Given the description of an element on the screen output the (x, y) to click on. 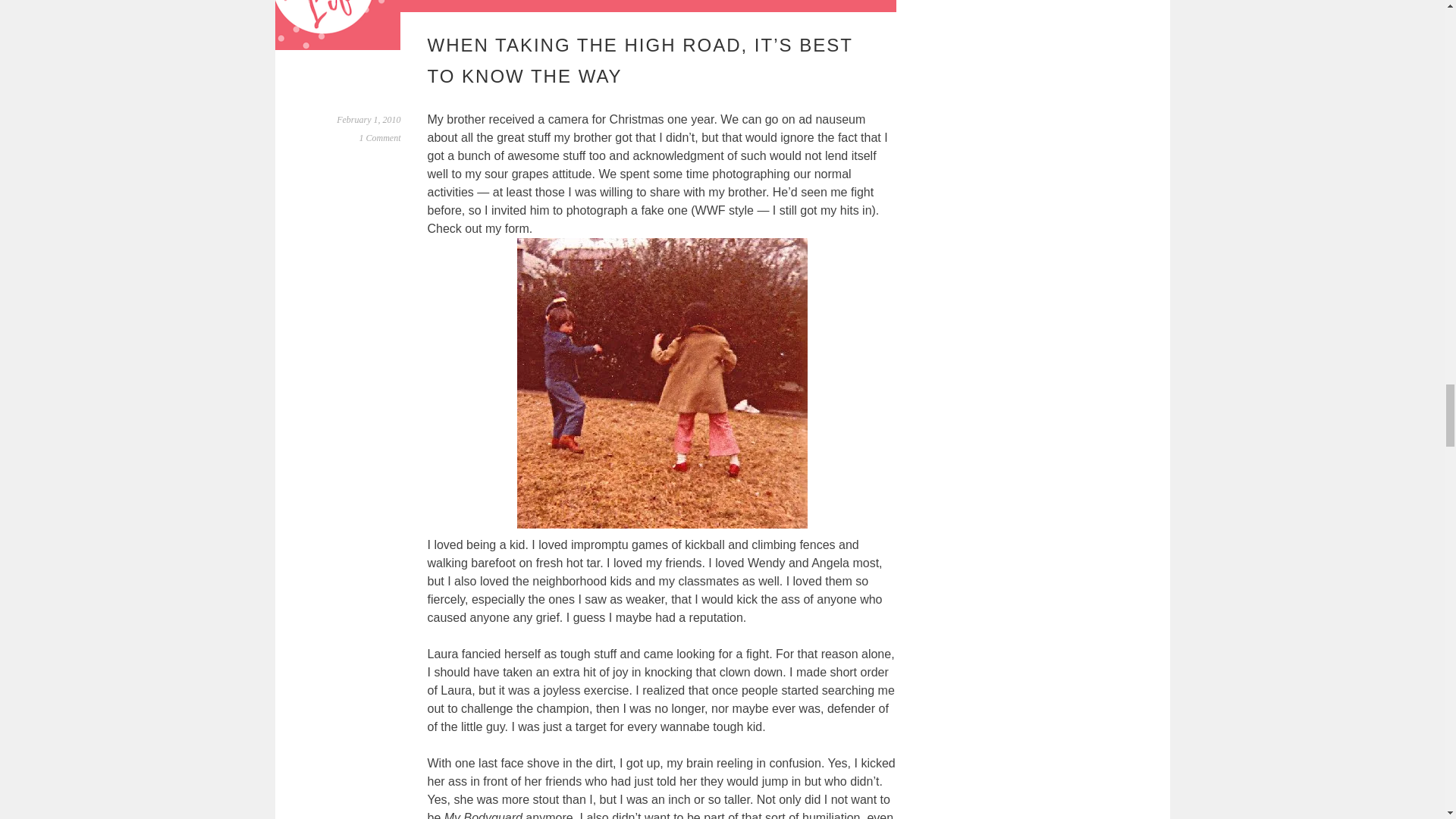
1 Comment (380, 137)
February 1, 2010 (368, 119)
